Given the description of an element on the screen output the (x, y) to click on. 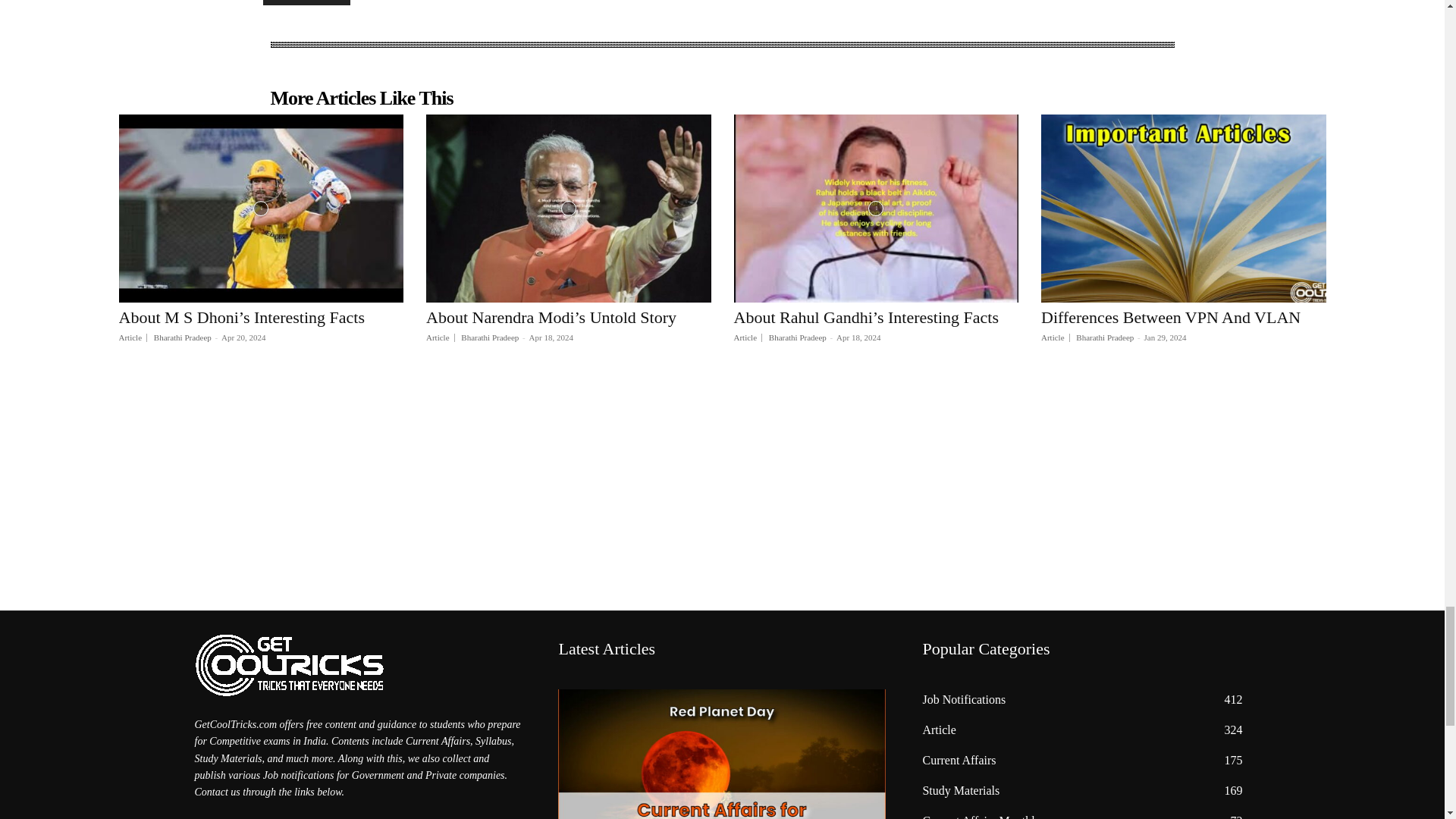
Post Comment (306, 2)
